Given the description of an element on the screen output the (x, y) to click on. 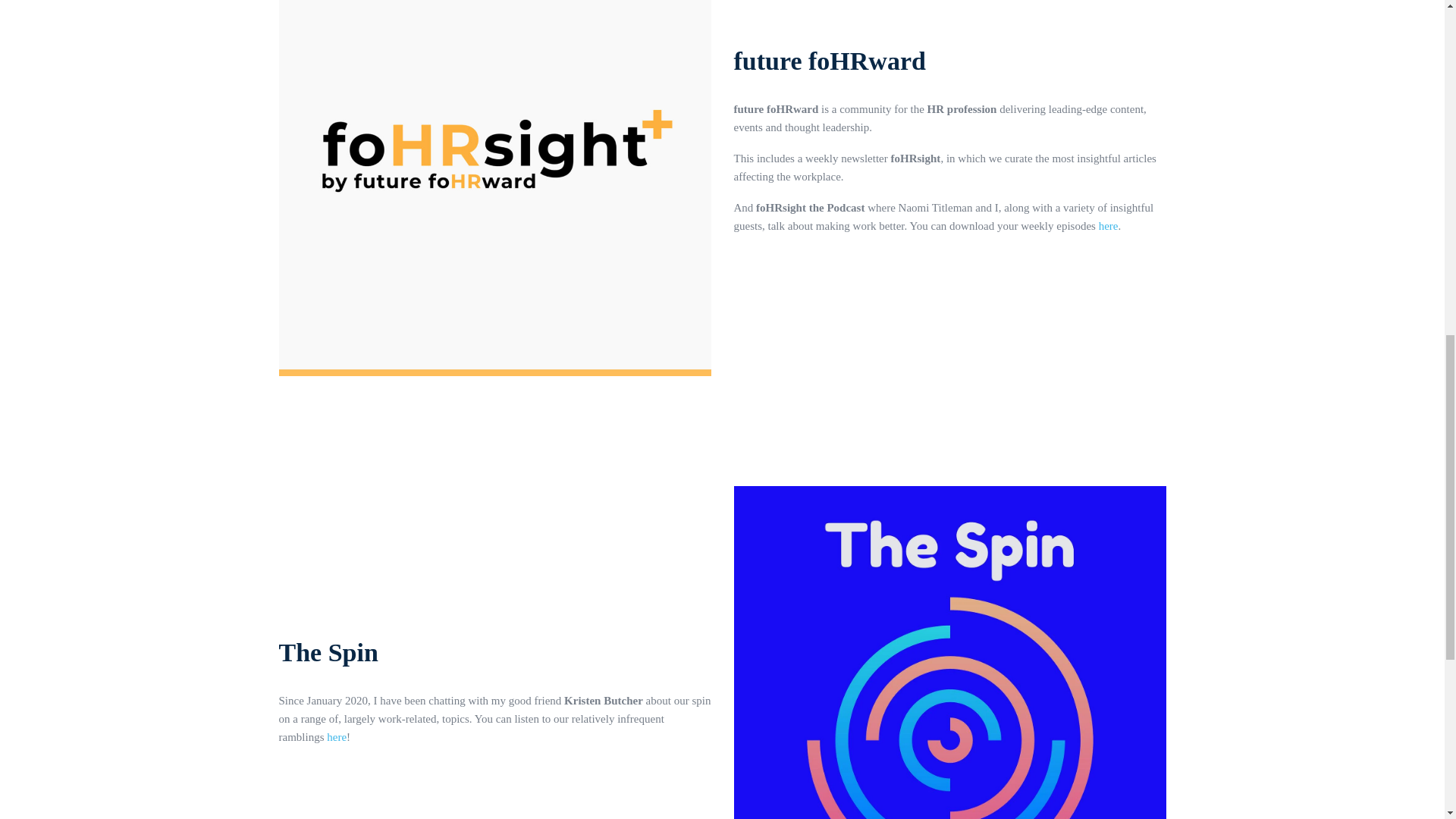
here (1108, 225)
here (336, 736)
